Given the description of an element on the screen output the (x, y) to click on. 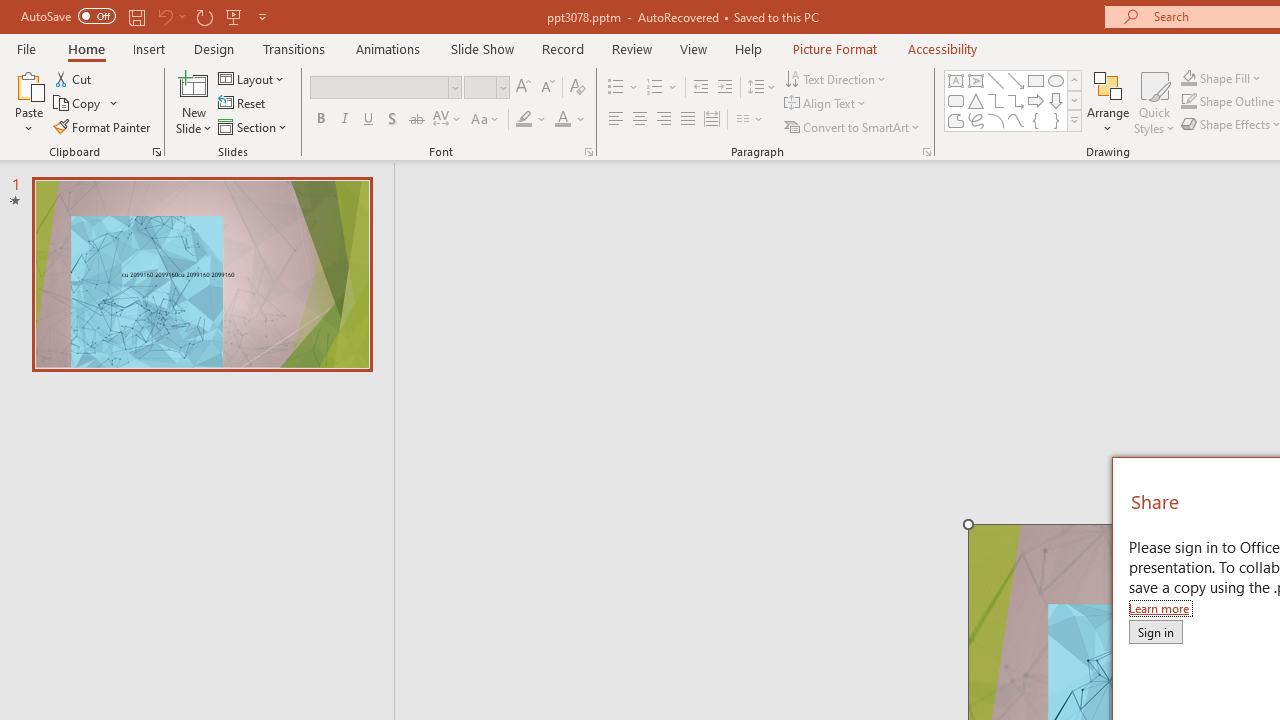
Shape Outline Green, Accent 1 (1188, 101)
